Given the description of an element on the screen output the (x, y) to click on. 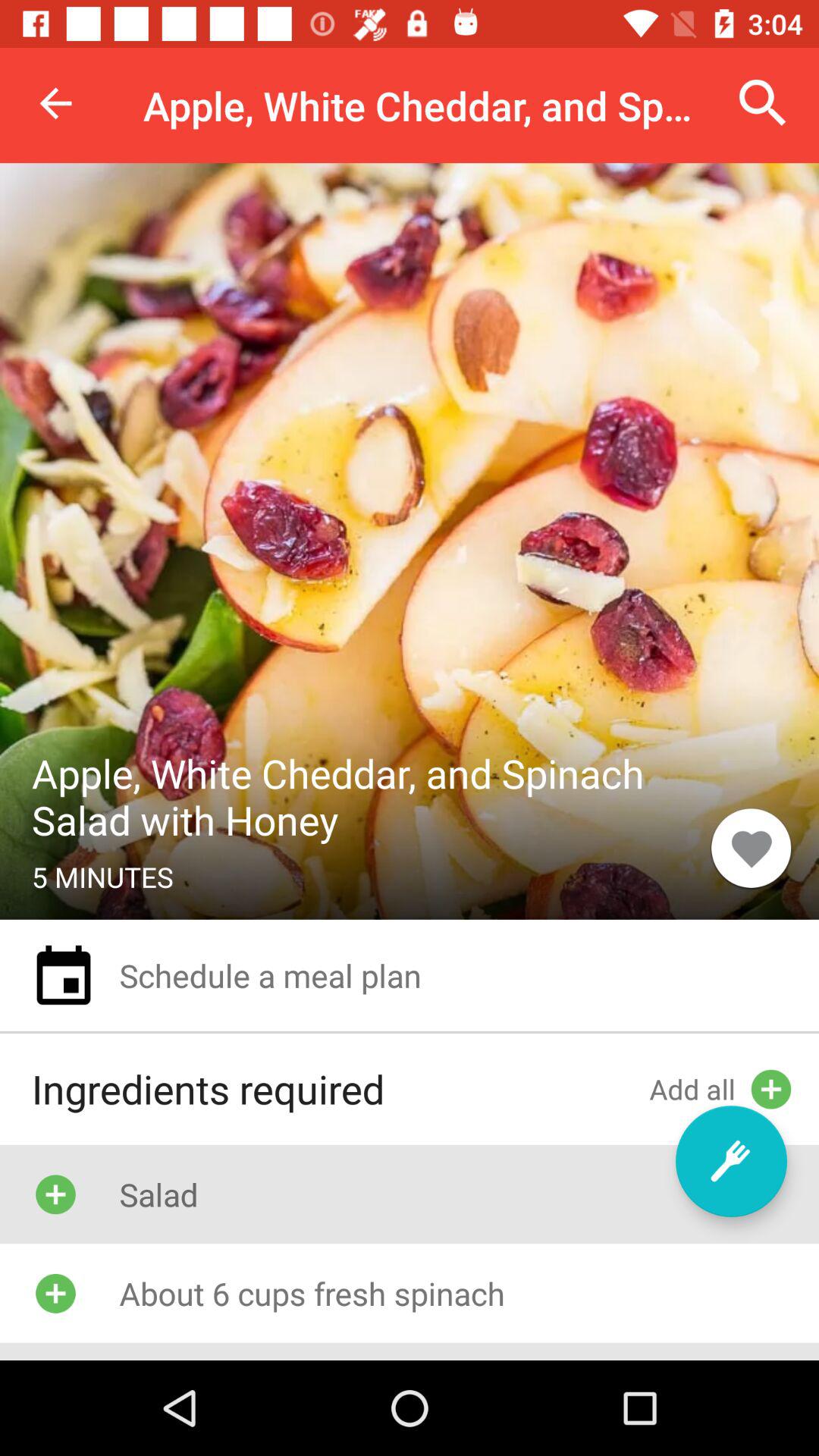
press the item next to the apple white cheddar icon (763, 103)
